Given the description of an element on the screen output the (x, y) to click on. 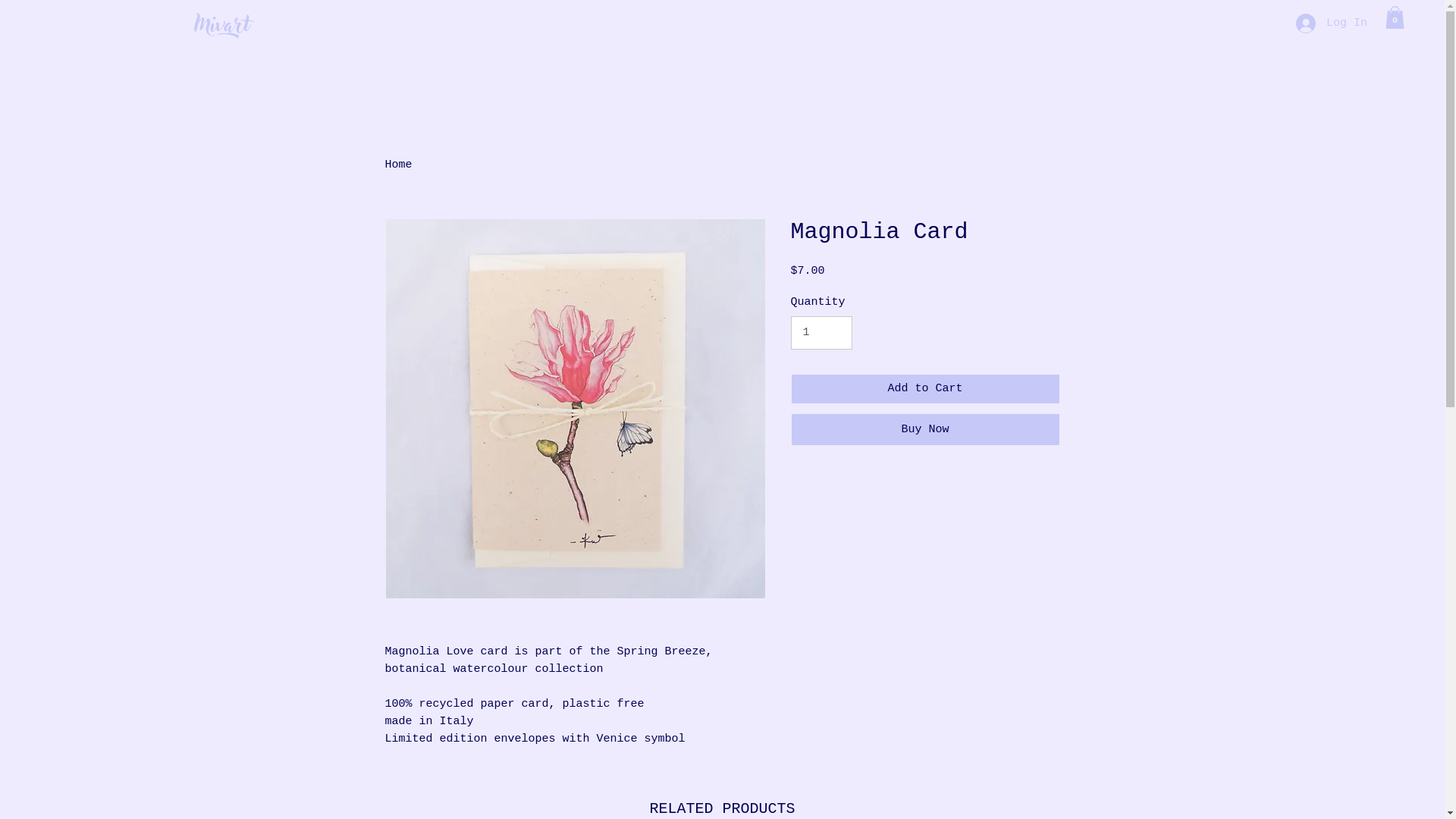
Home Element type: text (398, 164)
Log In Element type: text (1330, 23)
Add to Cart Element type: text (924, 388)
0 Element type: text (1394, 17)
Mivart Element type: text (229, 18)
Buy Now Element type: text (924, 429)
